Given the description of an element on the screen output the (x, y) to click on. 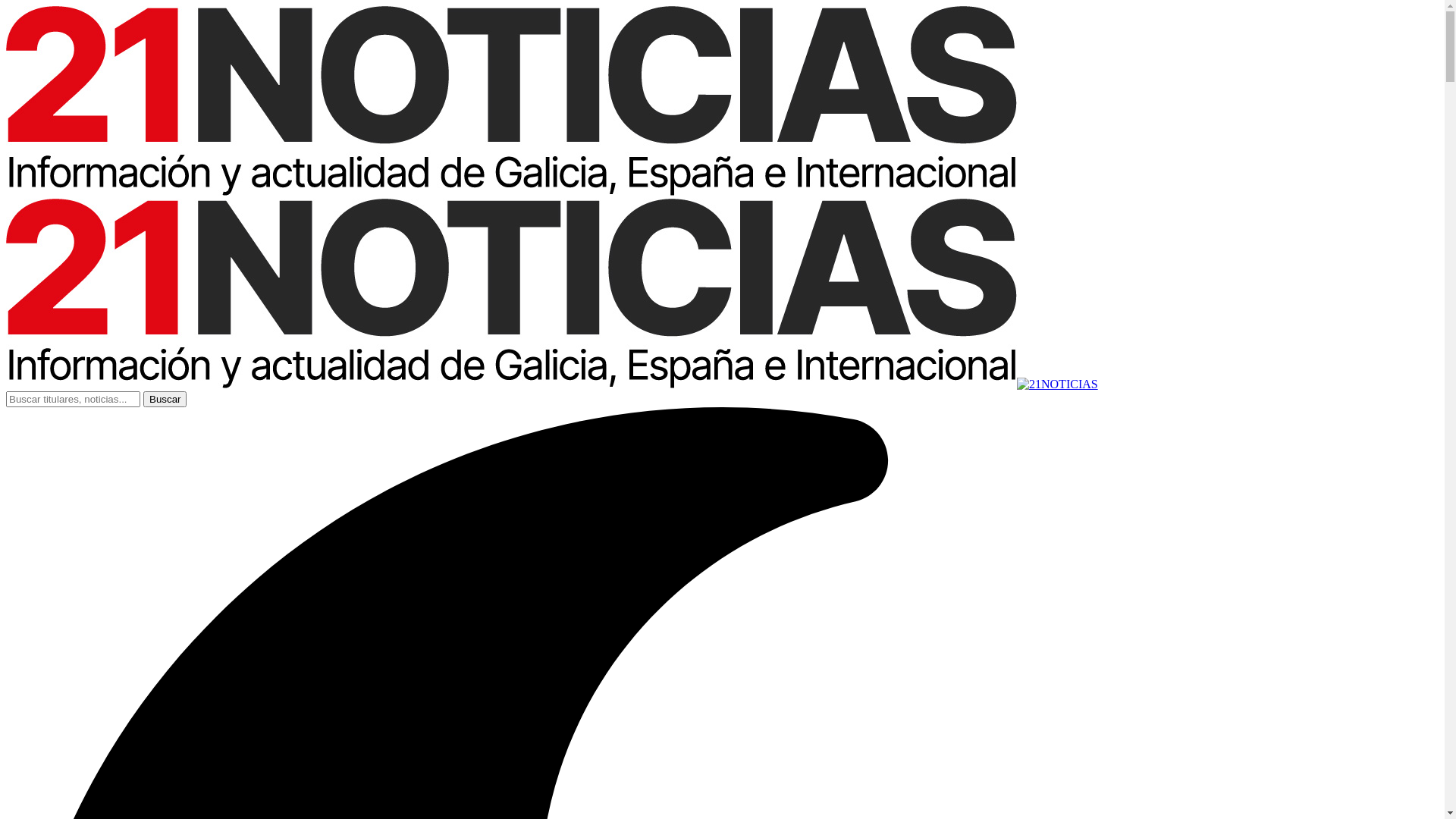
21NOTICIAS Element type: hover (552, 287)
Buscar Element type: text (164, 399)
